Given the description of an element on the screen output the (x, y) to click on. 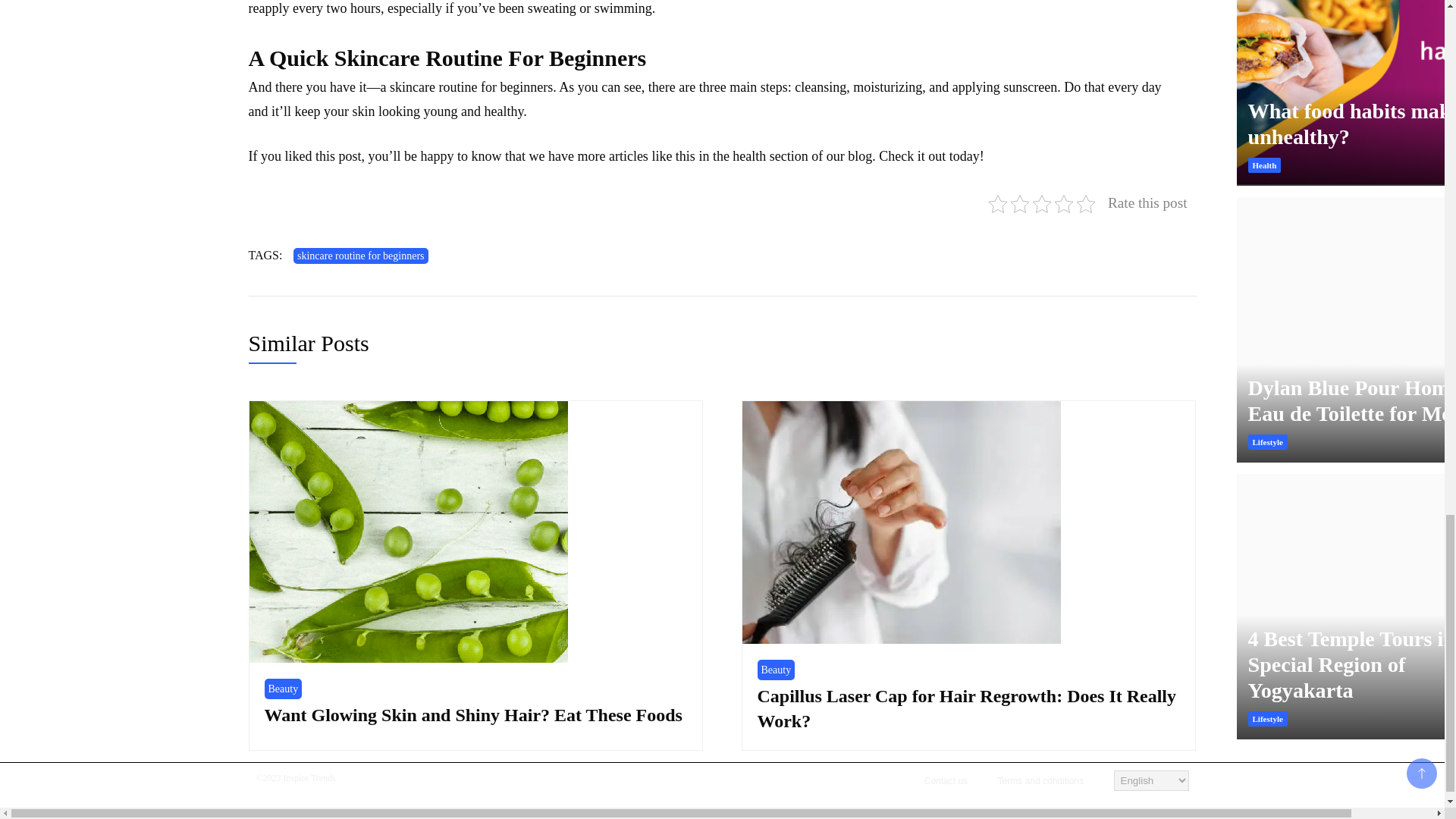
Want Glowing Skin and Shiny Hair? Eat These Foods (472, 714)
Beauty (282, 688)
skincare routine for beginners (361, 255)
Capillus Laser Cap for Hair Regrowth: Does It Really Work? (966, 709)
Beauty (775, 670)
